Given the description of an element on the screen output the (x, y) to click on. 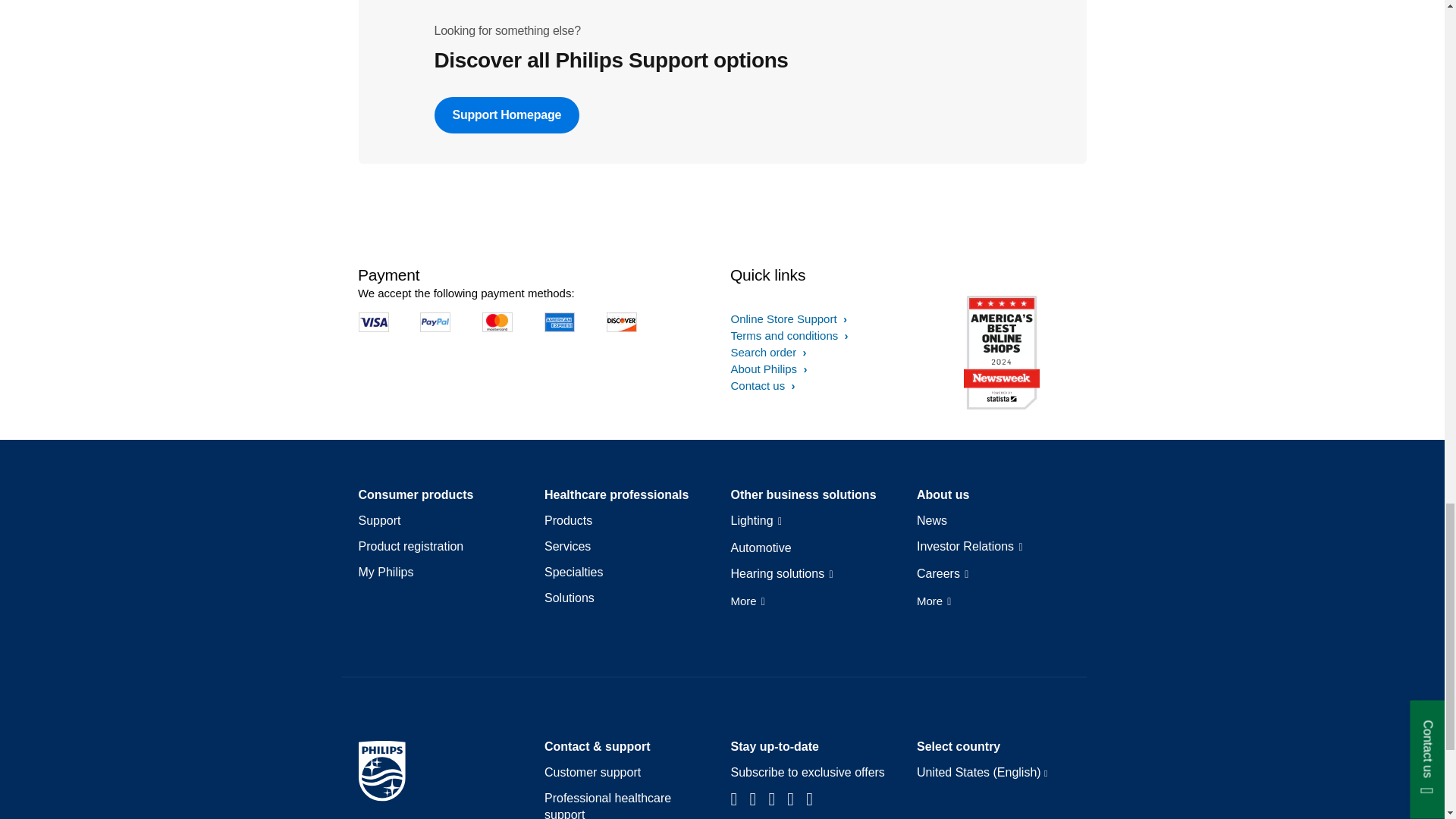
Support (379, 520)
Healthcare professionals (616, 494)
Product registration (410, 546)
Consumer products (415, 494)
My Philips (385, 572)
